Given the description of an element on the screen output the (x, y) to click on. 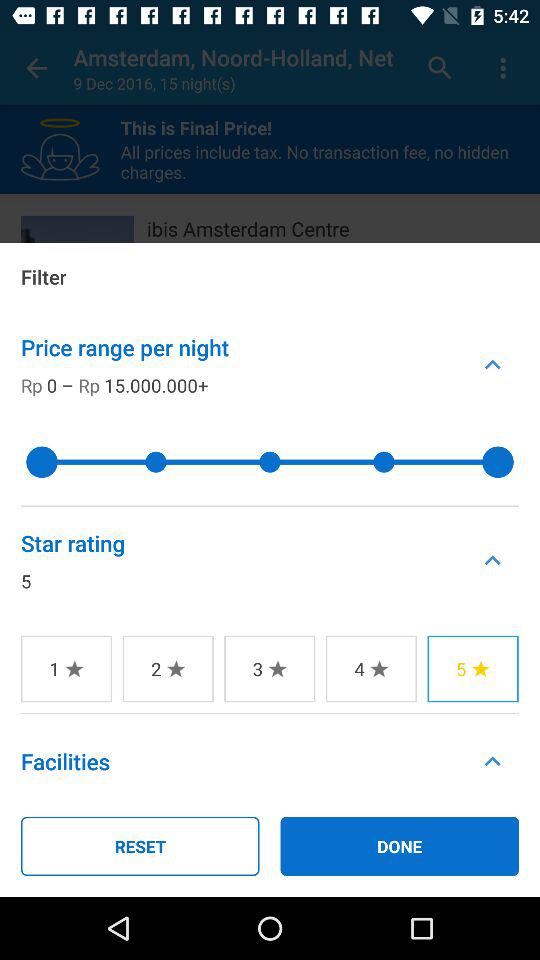
jump to the reset icon (140, 846)
